Given the description of an element on the screen output the (x, y) to click on. 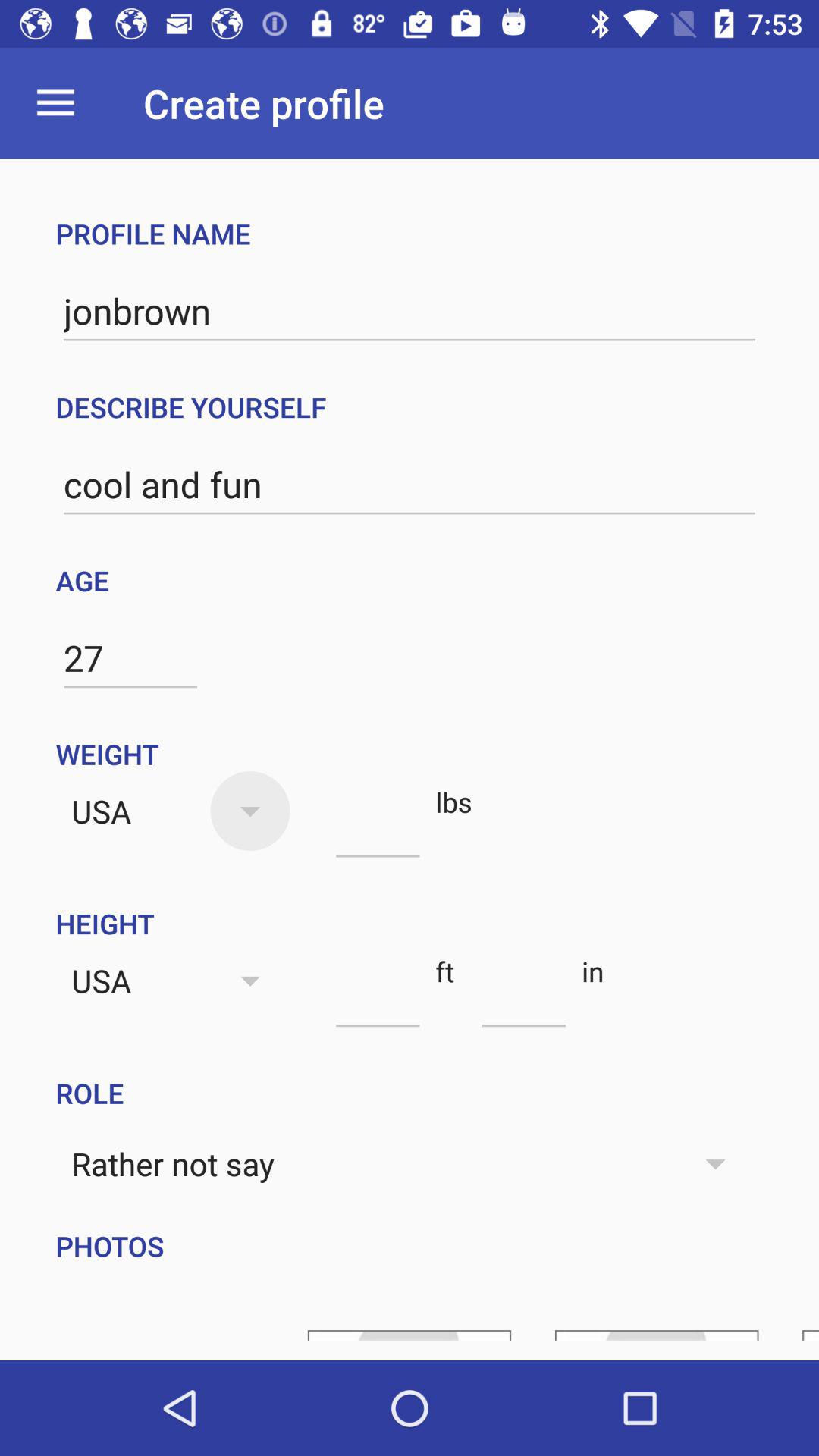
inches input (523, 999)
